Given the description of an element on the screen output the (x, y) to click on. 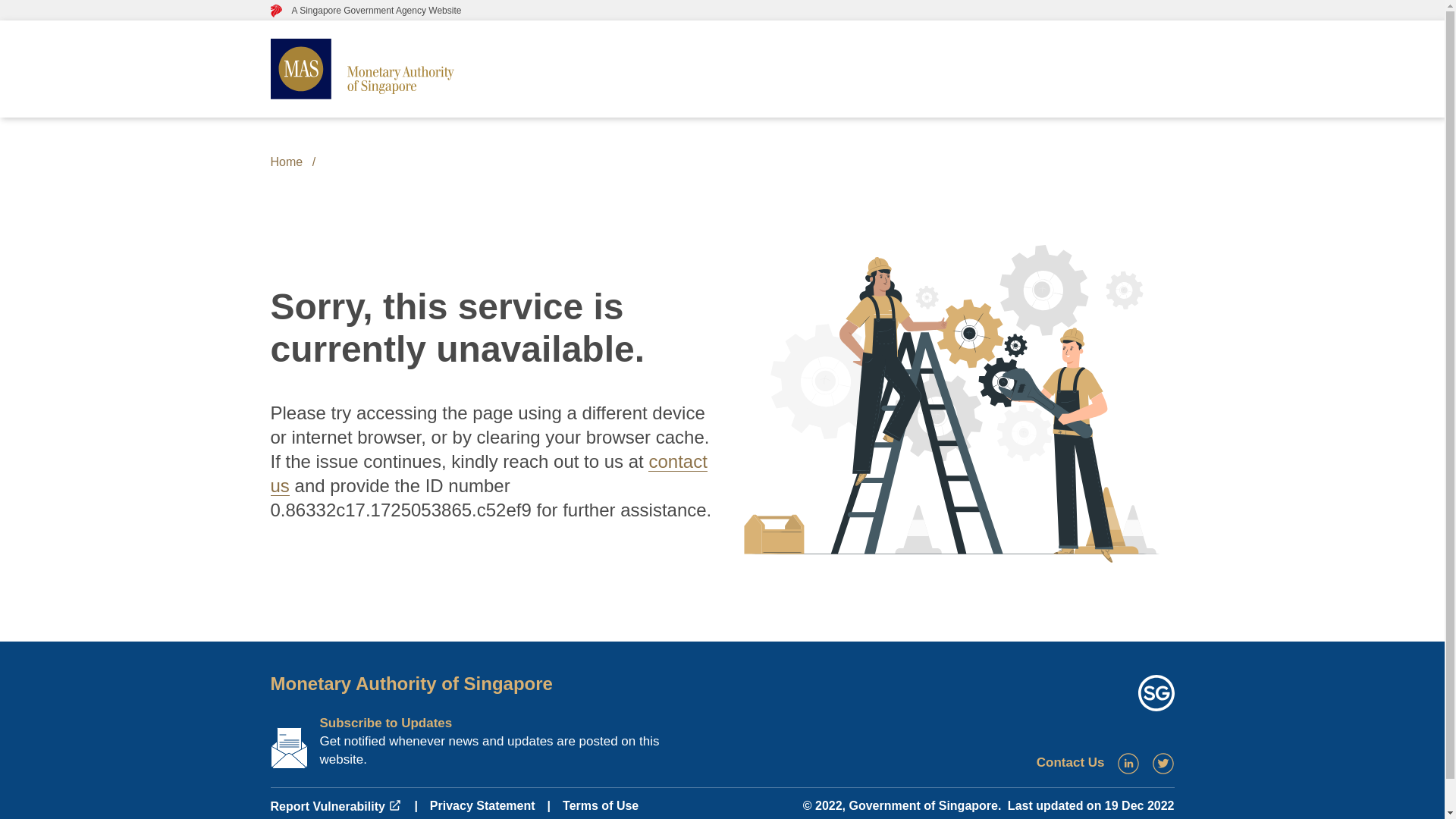
Monetary Authority of Singapore (410, 683)
Privacy Statement (482, 805)
Terms of Use (600, 805)
A Singapore Government Agency Website (365, 10)
contact us (487, 473)
Report Vulnerability (335, 806)
Home (285, 161)
Contact Us (1070, 762)
